Given the description of an element on the screen output the (x, y) to click on. 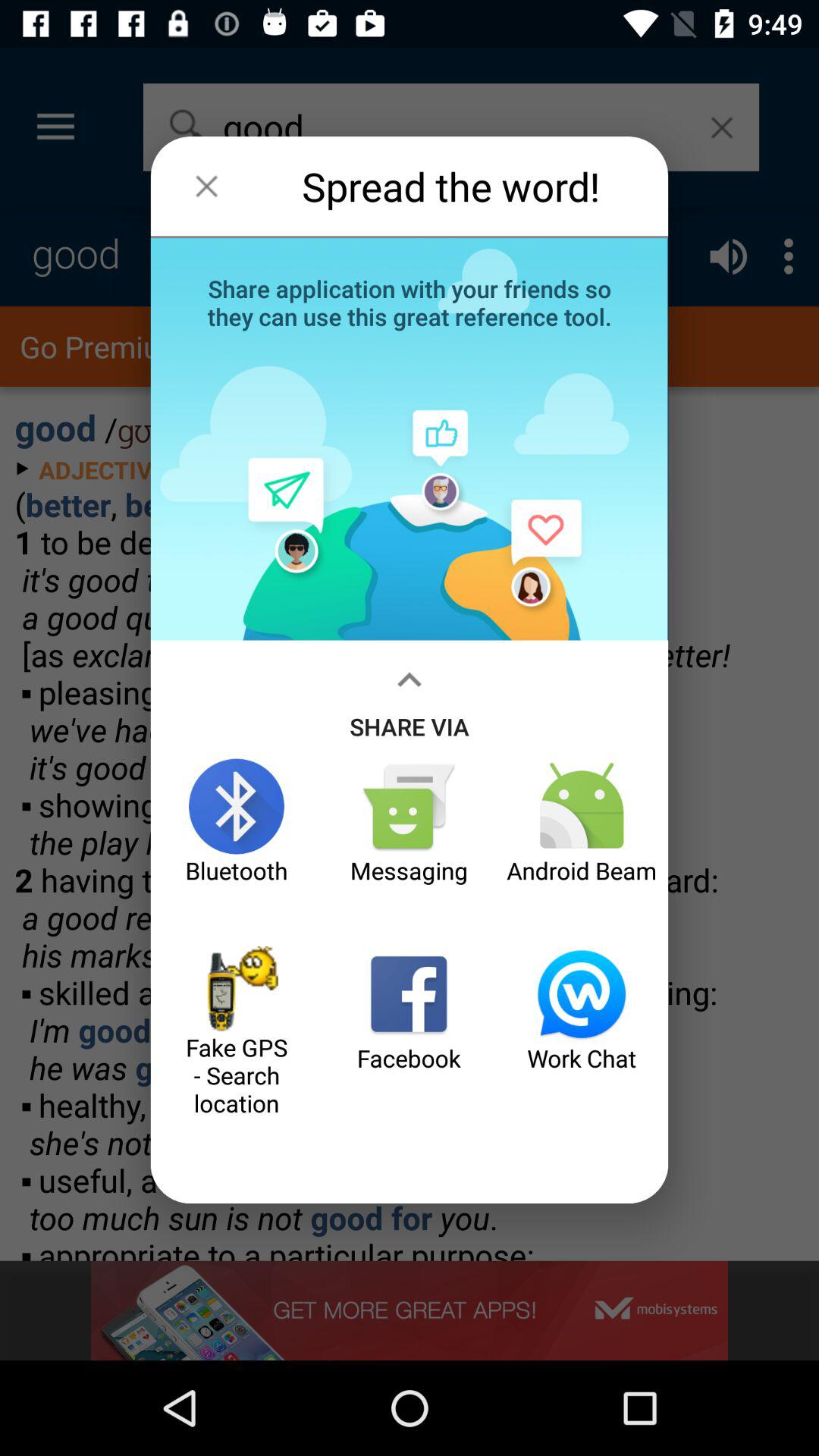
select share application with item (409, 301)
